Given the description of an element on the screen output the (x, y) to click on. 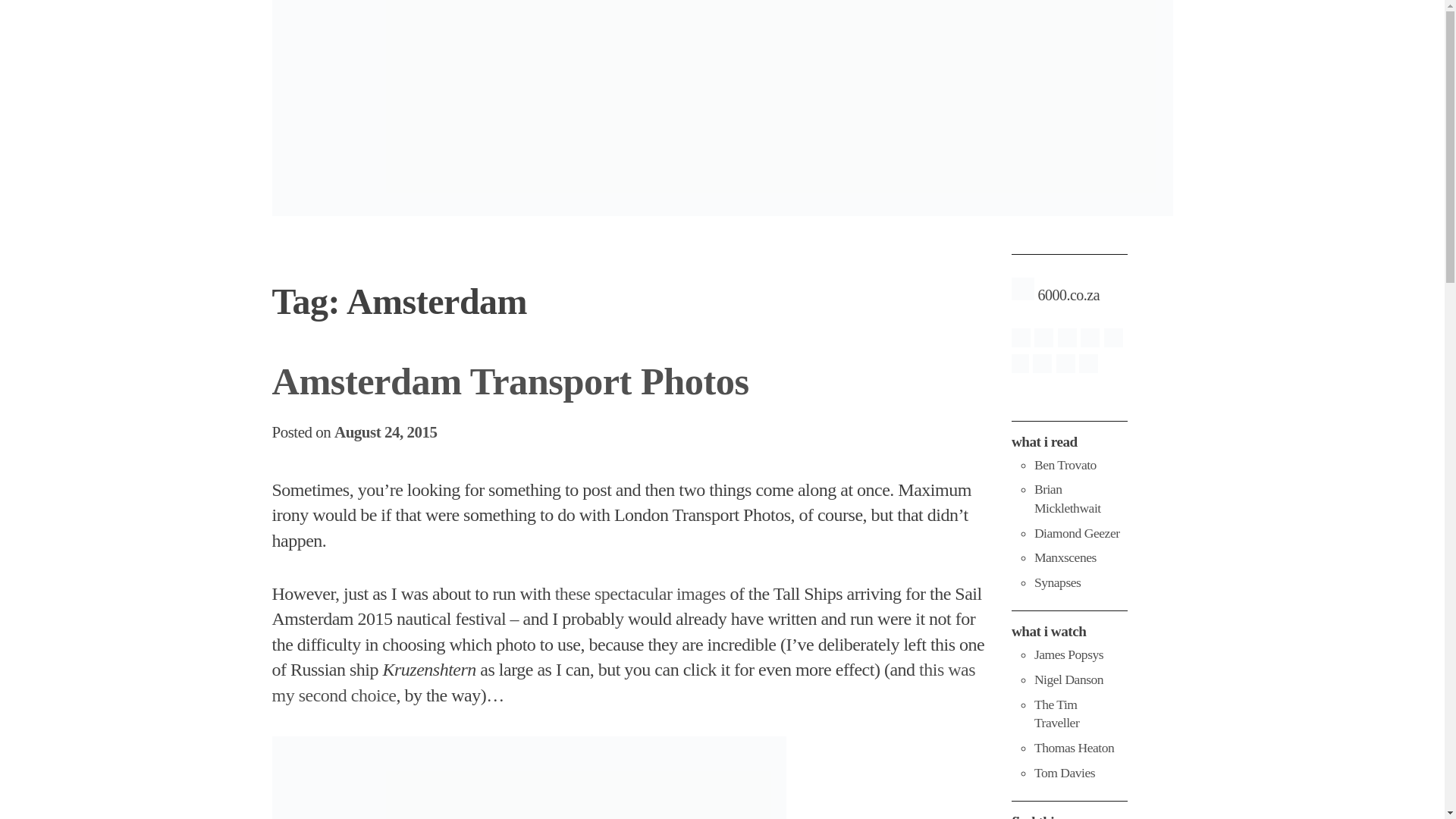
Amsterdam Transport Photos (509, 381)
UK landscape photographer (1068, 679)
this was my second choice (622, 682)
James Popsys (1068, 654)
Daily tales of London (1076, 532)
Photography advice from the UK (1068, 654)
jacques talks mostly sense (1057, 581)
August 24, 2015 (385, 432)
these spectacular images (639, 593)
Eclectic mix of social commentary (1066, 498)
Diamond Geezer (1076, 532)
Brian Micklethwait (1066, 498)
Geoguessr God (1063, 772)
Manxscenes (1064, 557)
